Given the description of an element on the screen output the (x, y) to click on. 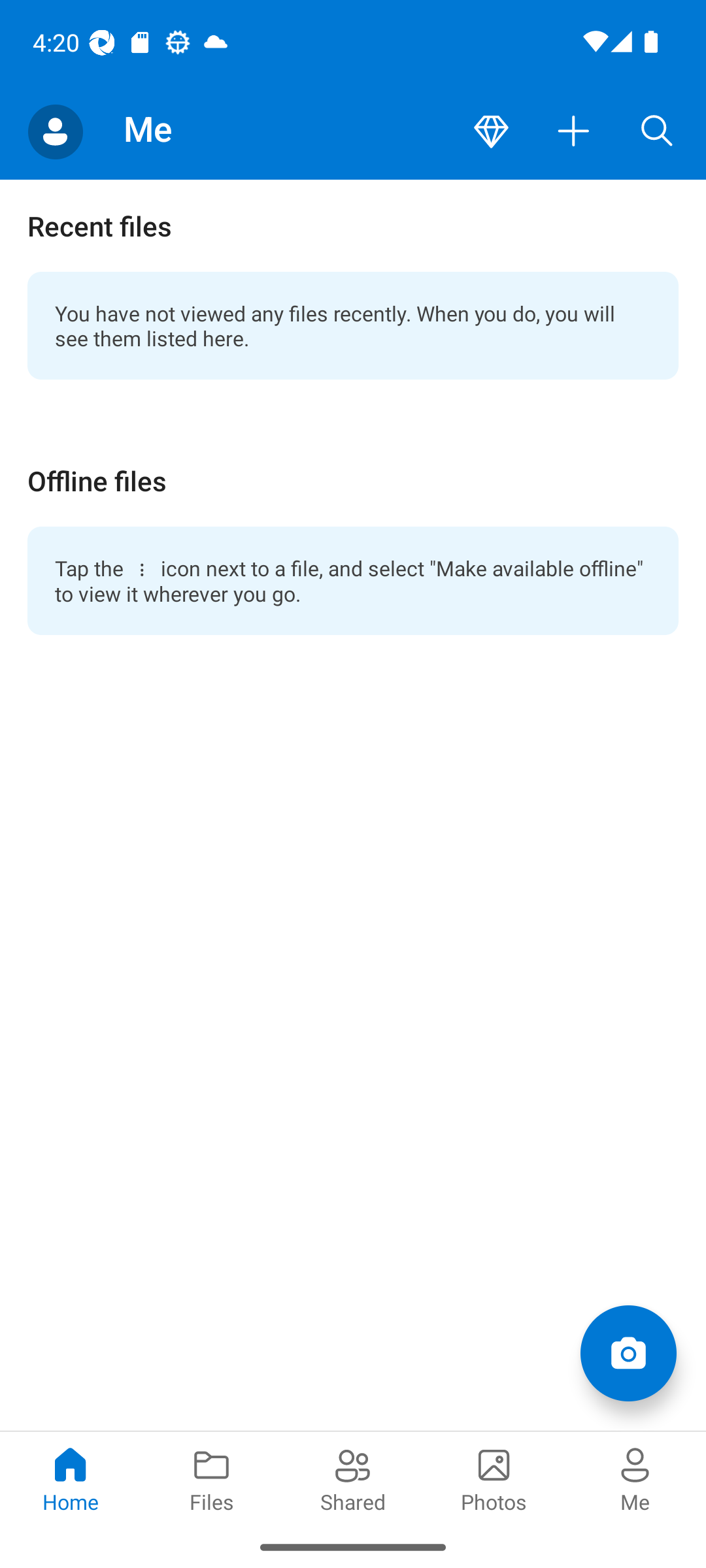
Account switcher (55, 131)
Premium button (491, 131)
More actions button (574, 131)
Search button (656, 131)
Scan (628, 1352)
Files pivot Files (211, 1478)
Shared pivot Shared (352, 1478)
Photos pivot Photos (493, 1478)
Me pivot Me (635, 1478)
